Given the description of an element on the screen output the (x, y) to click on. 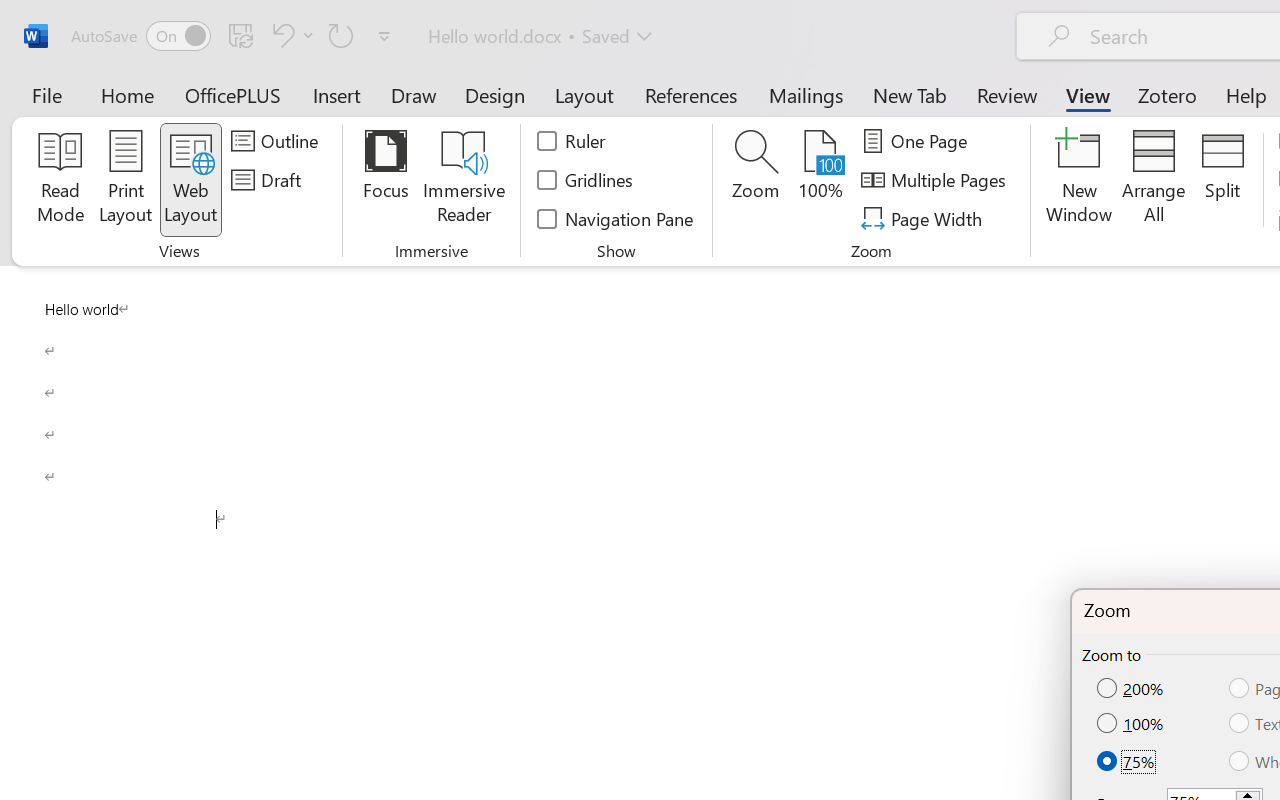
Export to Video (585, 114)
Screen Recording (290, 114)
Reset to Cameo (474, 114)
Shape Format (832, 54)
Learn More (646, 114)
